Given the description of an element on the screen output the (x, y) to click on. 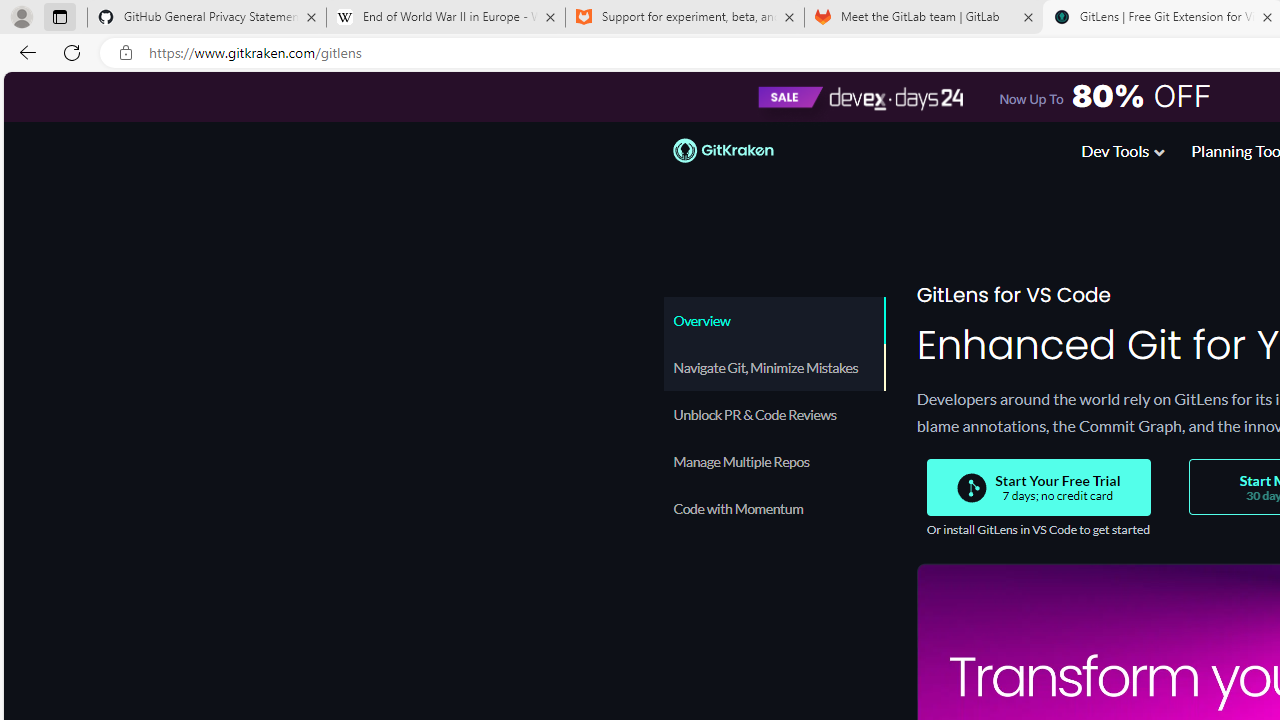
Code with Momentum (773, 508)
Overview (774, 320)
Or install GitLens in VS Code to get started (1037, 529)
GitHub General Privacy Statement - GitHub Docs (207, 17)
Overview (773, 320)
Unblock PR & Code Reviews (774, 413)
End of World War II in Europe - Wikipedia (445, 17)
Start Your Free Trial 7 days; no credit card (1037, 487)
Navigate Git, Minimize Mistakes (774, 367)
Manage Multiple Repos (774, 461)
